Given the description of an element on the screen output the (x, y) to click on. 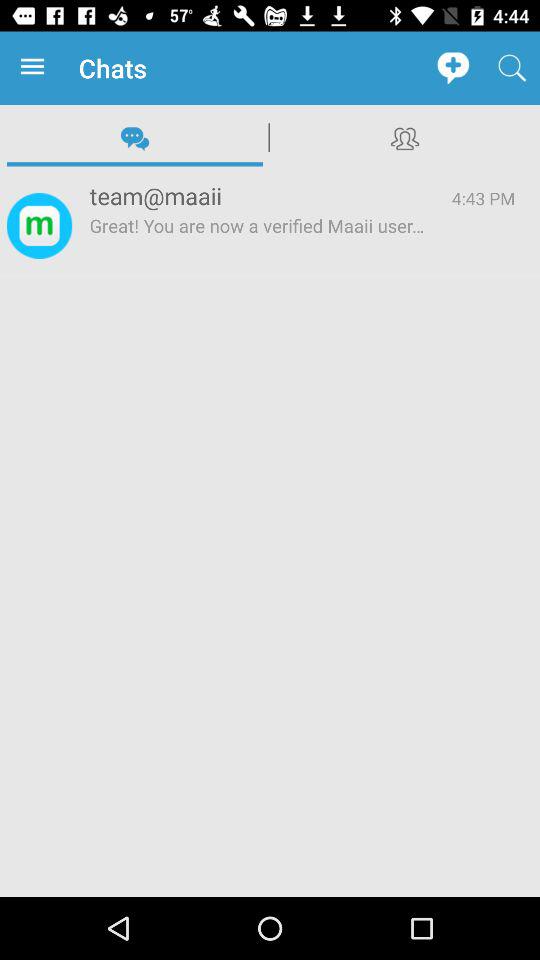
choose icon next to 4:43 pm app (258, 245)
